Given the description of an element on the screen output the (x, y) to click on. 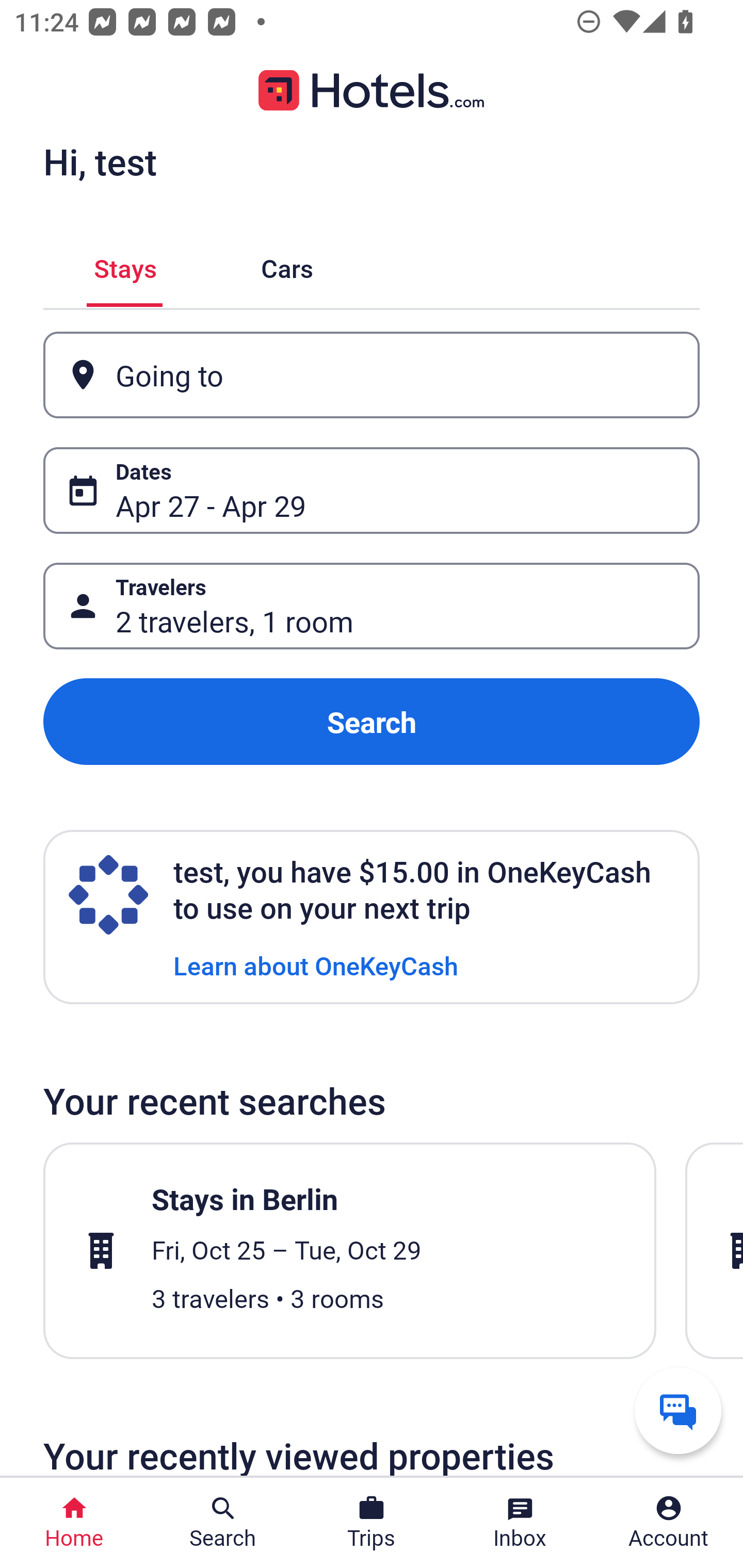
Hi, test (99, 161)
Cars (286, 265)
Going to Button (371, 375)
Dates Button Apr 27 - Apr 29 (371, 489)
Travelers Button 2 travelers, 1 room (371, 605)
Search (371, 721)
Learn about OneKeyCash Learn about OneKeyCash Link (315, 964)
Get help from a virtual agent (677, 1410)
Search Search Button (222, 1522)
Trips Trips Button (371, 1522)
Inbox Inbox Button (519, 1522)
Account Profile. Button (668, 1522)
